Given the description of an element on the screen output the (x, y) to click on. 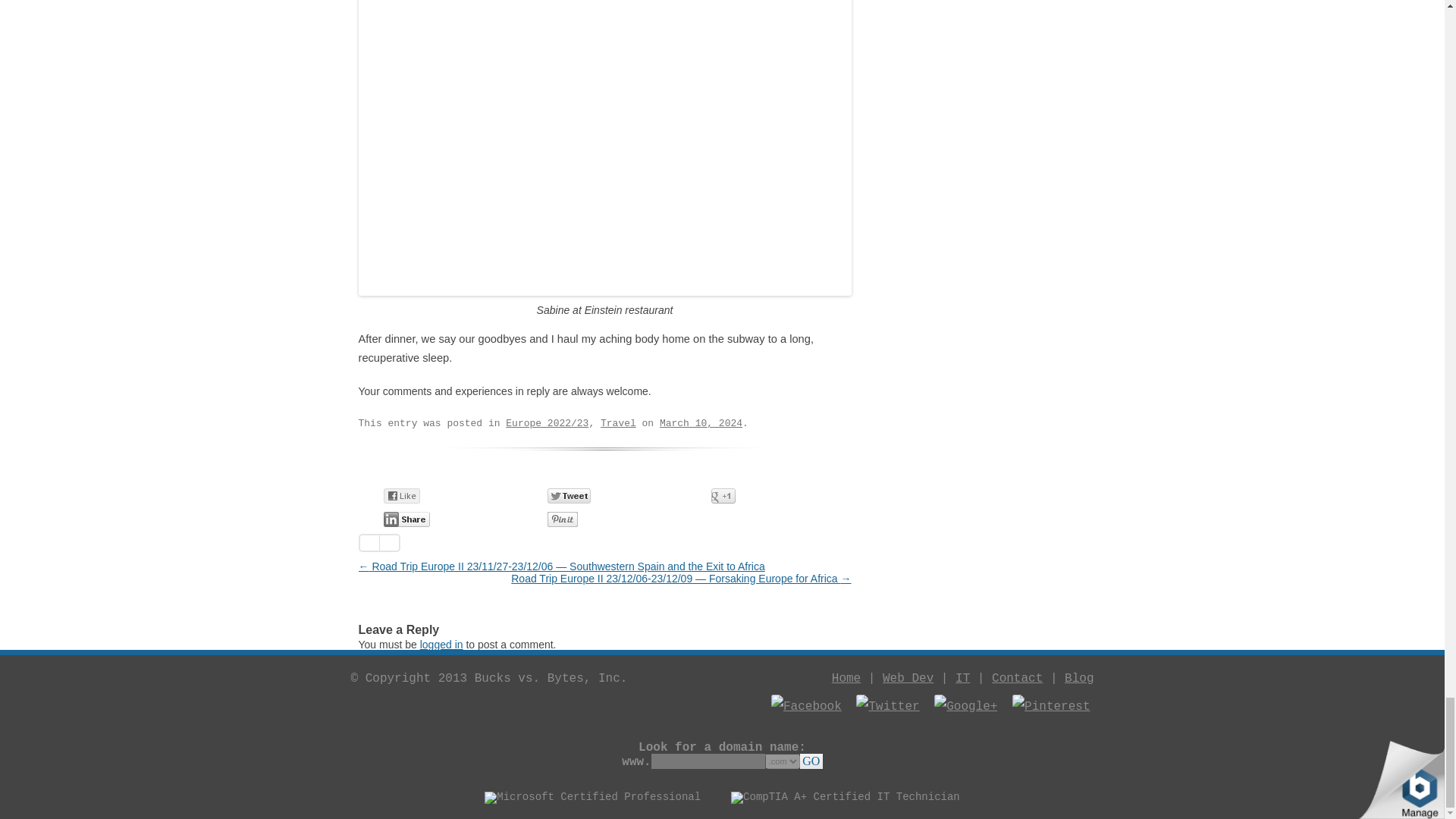
Travel (617, 423)
GO (810, 761)
March 10, 2024 (700, 423)
Send Email (710, 519)
6:27 pm (700, 423)
logged in (441, 644)
